Given the description of an element on the screen output the (x, y) to click on. 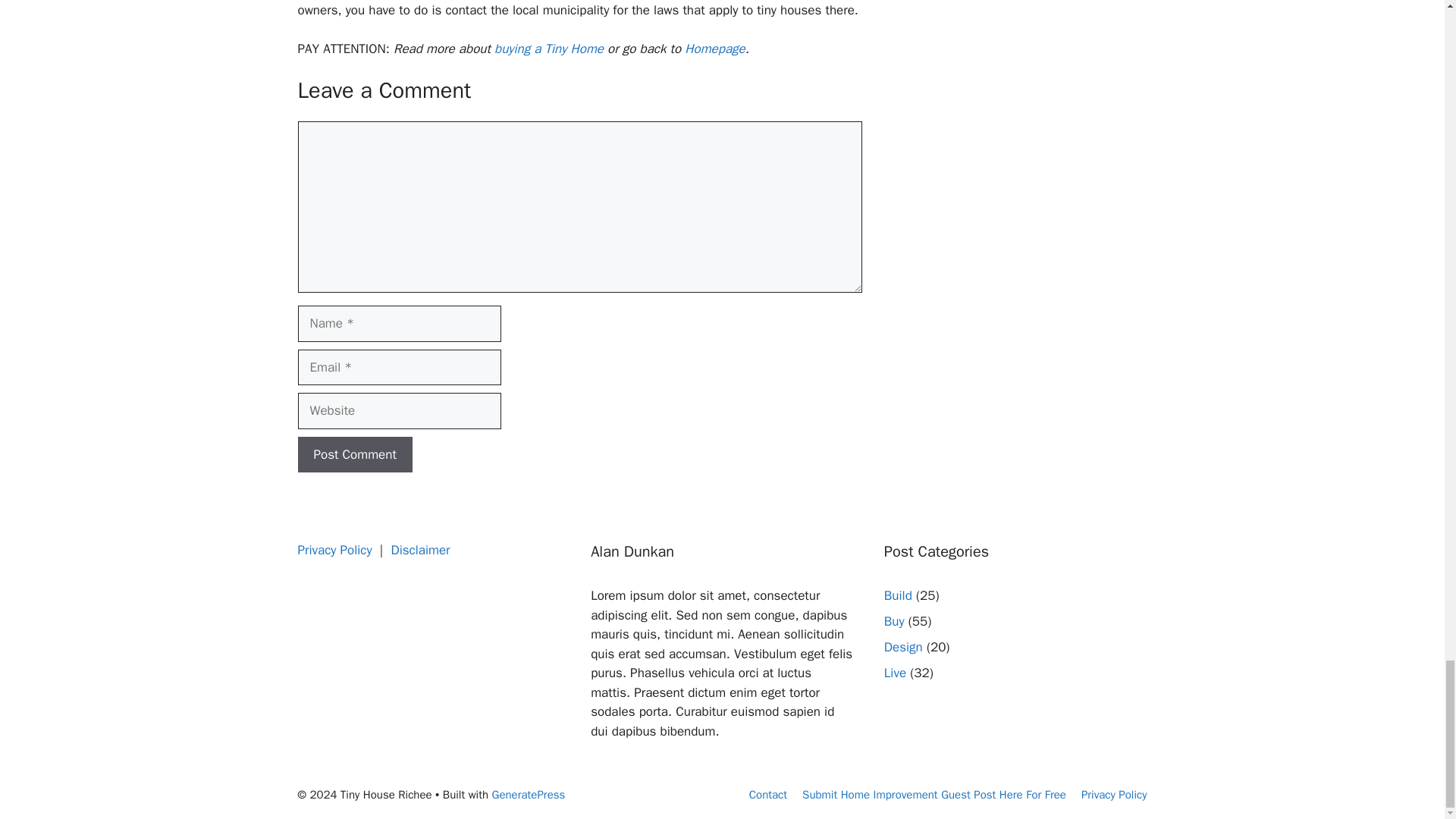
buying a Tiny Home (549, 48)
Post Comment (354, 453)
Post Comment (354, 453)
Homepage (714, 48)
